Given the description of an element on the screen output the (x, y) to click on. 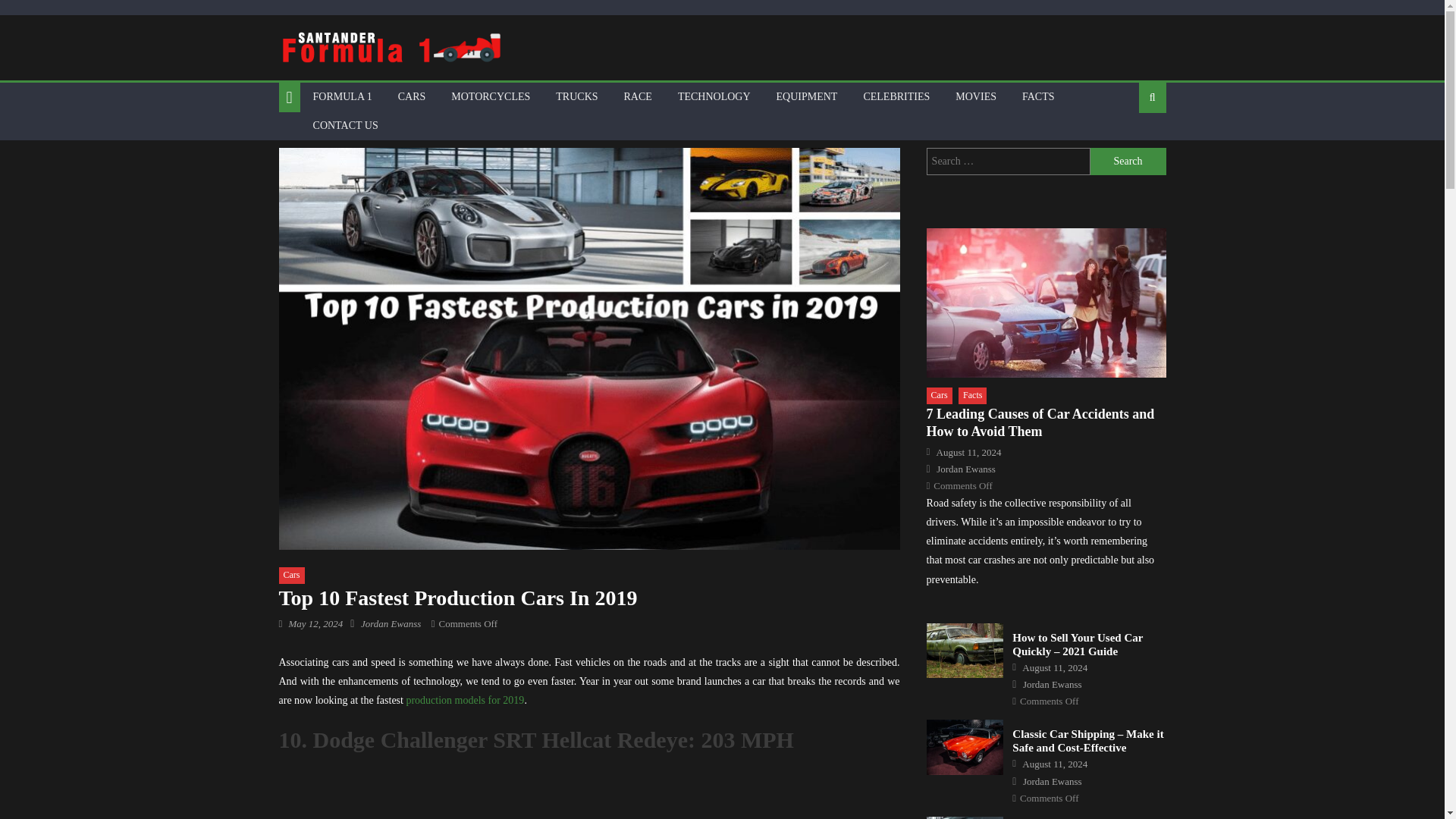
Search (1128, 161)
CARS (412, 96)
TECHNOLOGY (713, 96)
FORMULA 1 (342, 96)
MOVIES (975, 96)
FACTS (1037, 96)
MOTORCYCLES (490, 96)
Search (1128, 161)
CONTACT US (345, 125)
Search (1128, 145)
